Given the description of an element on the screen output the (x, y) to click on. 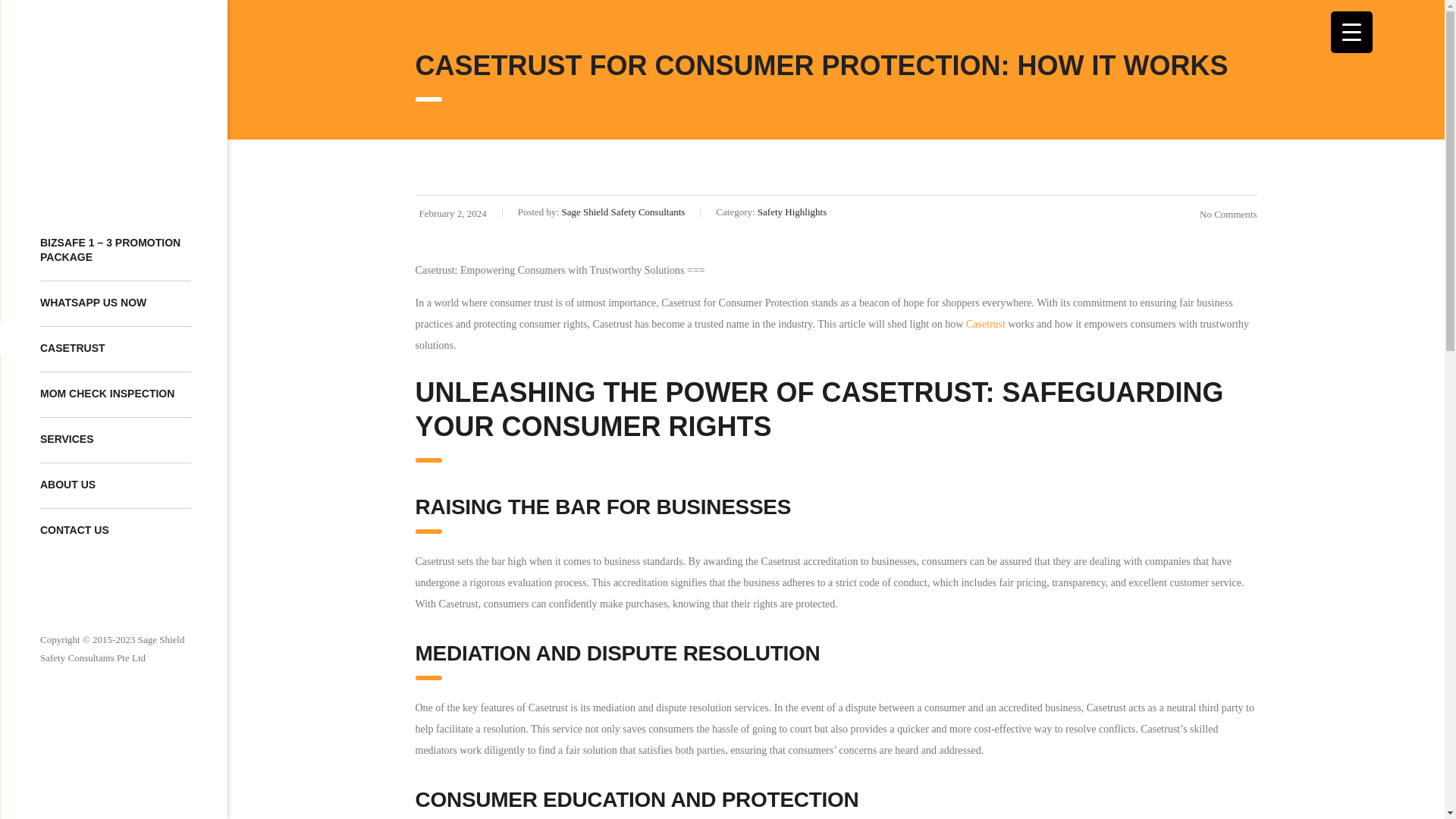
MOM CHECK INSPECTION (115, 393)
ABOUT US (115, 484)
WHATSAPP US NOW (115, 302)
Casetrust (986, 324)
CONTACT US (115, 530)
CASETRUST (115, 348)
Casetrust (986, 324)
SERVICES (115, 439)
